Given the description of an element on the screen output the (x, y) to click on. 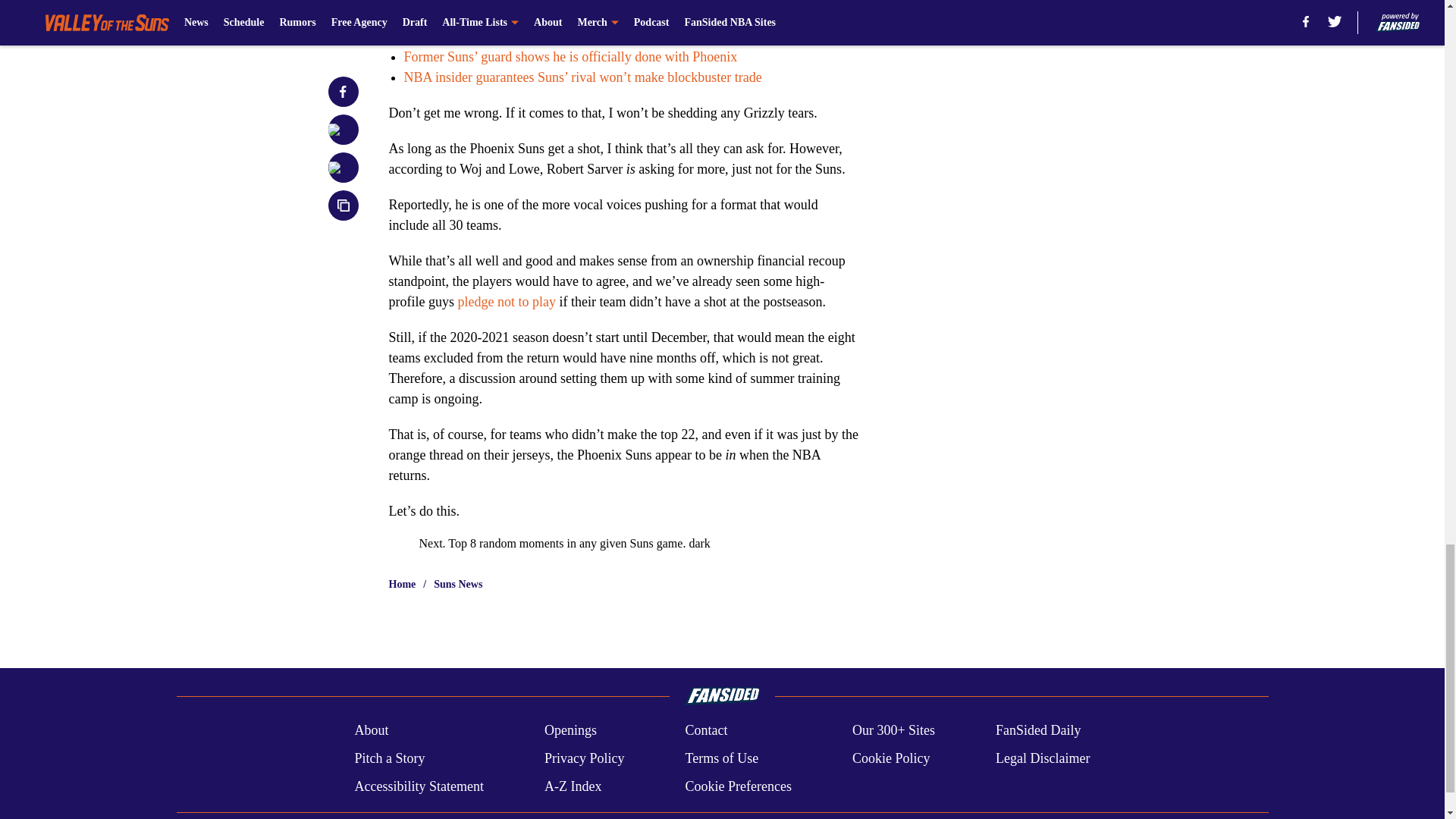
Zion Williamson gets compared to Phoenix Suns legend (556, 15)
pledge not to play (505, 301)
Openings (570, 730)
Suns player preview: Bol Bol can be the perfect role player (564, 36)
Home (401, 584)
About (370, 730)
Suns News (457, 584)
